Given the description of an element on the screen output the (x, y) to click on. 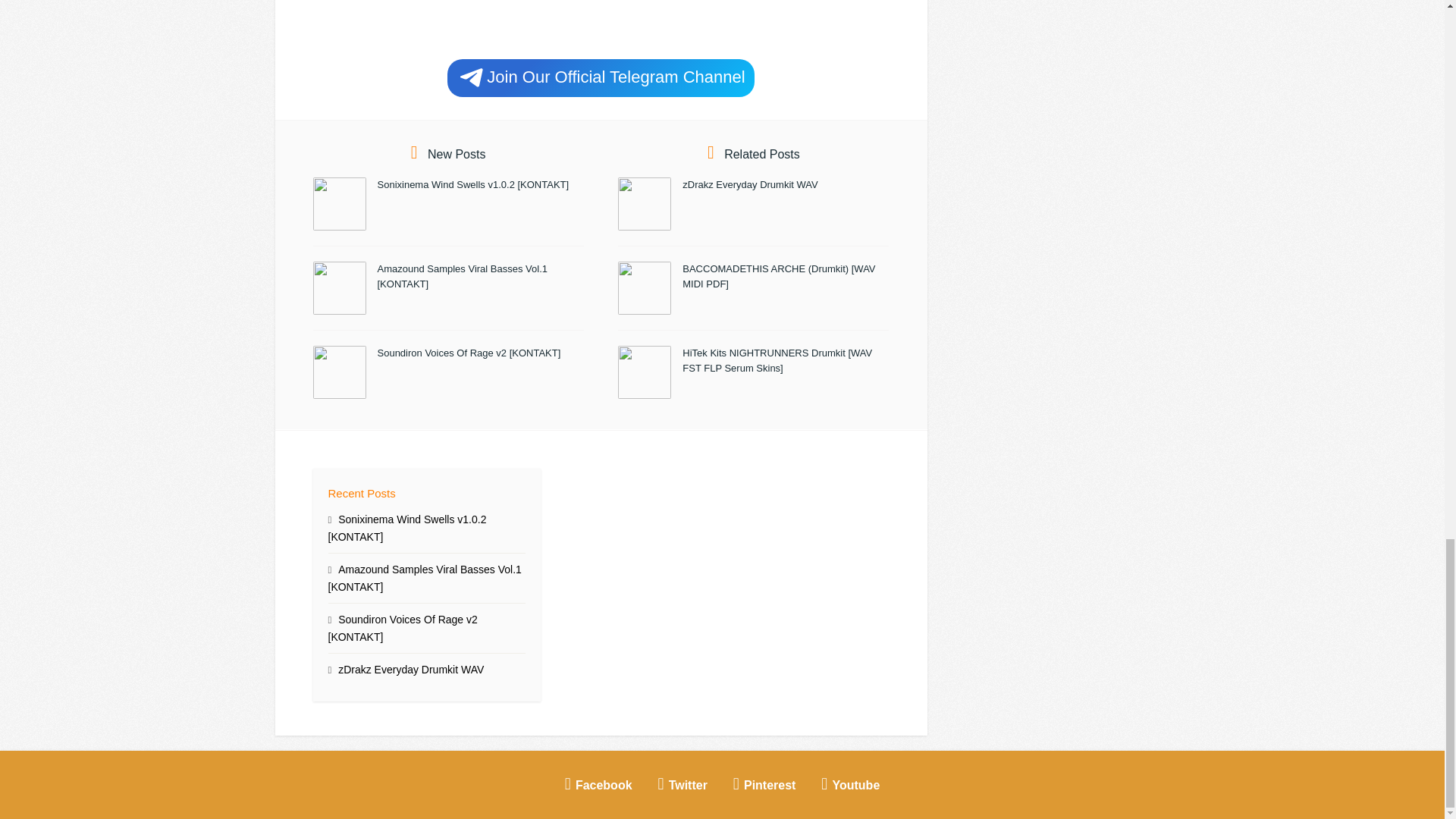
zDrakz Everyday Drumkit WAV (410, 669)
zDrakz Everyday Drumkit WAV (749, 184)
Facebook (598, 783)
Join Our Official Telegram Channel (600, 77)
Twitter (681, 783)
